Given the description of an element on the screen output the (x, y) to click on. 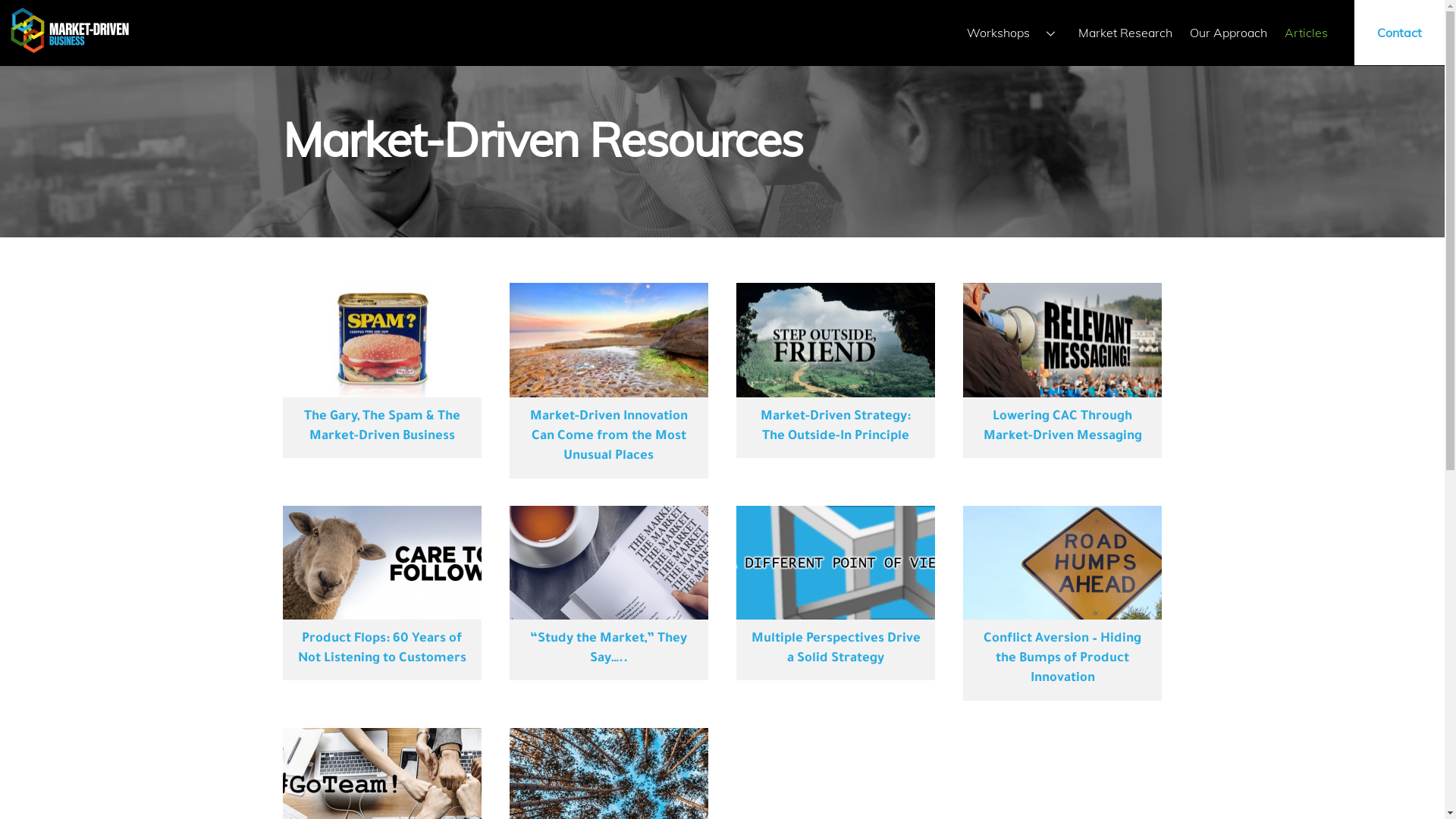
stockfresh_3744378_sunrise-at-botany-bay-australia_sizeXL Element type: hover (608, 339)
Market-Driven Strategy: The Outside-In Principle Element type: text (835, 427)
POV Element type: hover (835, 562)
The Gary, The Spam & The Market-Driven Business Element type: text (382, 427)
Market Research Element type: text (1124, 32)
Famous_Flops Element type: hover (381, 562)
Articles Element type: text (1306, 32)
Workshops Element type: text (1014, 32)
Study_The_Market Element type: hover (608, 562)
Working_Outside-In Element type: hover (835, 339)
Lowering CAC Through Market-Driven Messaging Element type: text (1062, 427)
NotHam Element type: hover (381, 339)
Contact Element type: text (1399, 32)
Market-Driven Business Element type: hover (69, 45)
Lowering_CAC Element type: hover (1062, 339)
Our Approach Element type: text (1228, 32)
Multiple Perspectives Drive a Solid Strategy Element type: text (835, 649)
mdb Element type: hover (69, 30)
Product Flops: 60 Years of Not Listening to Customers Element type: text (382, 649)
Speed_Bump Element type: hover (1062, 562)
